Given the description of an element on the screen output the (x, y) to click on. 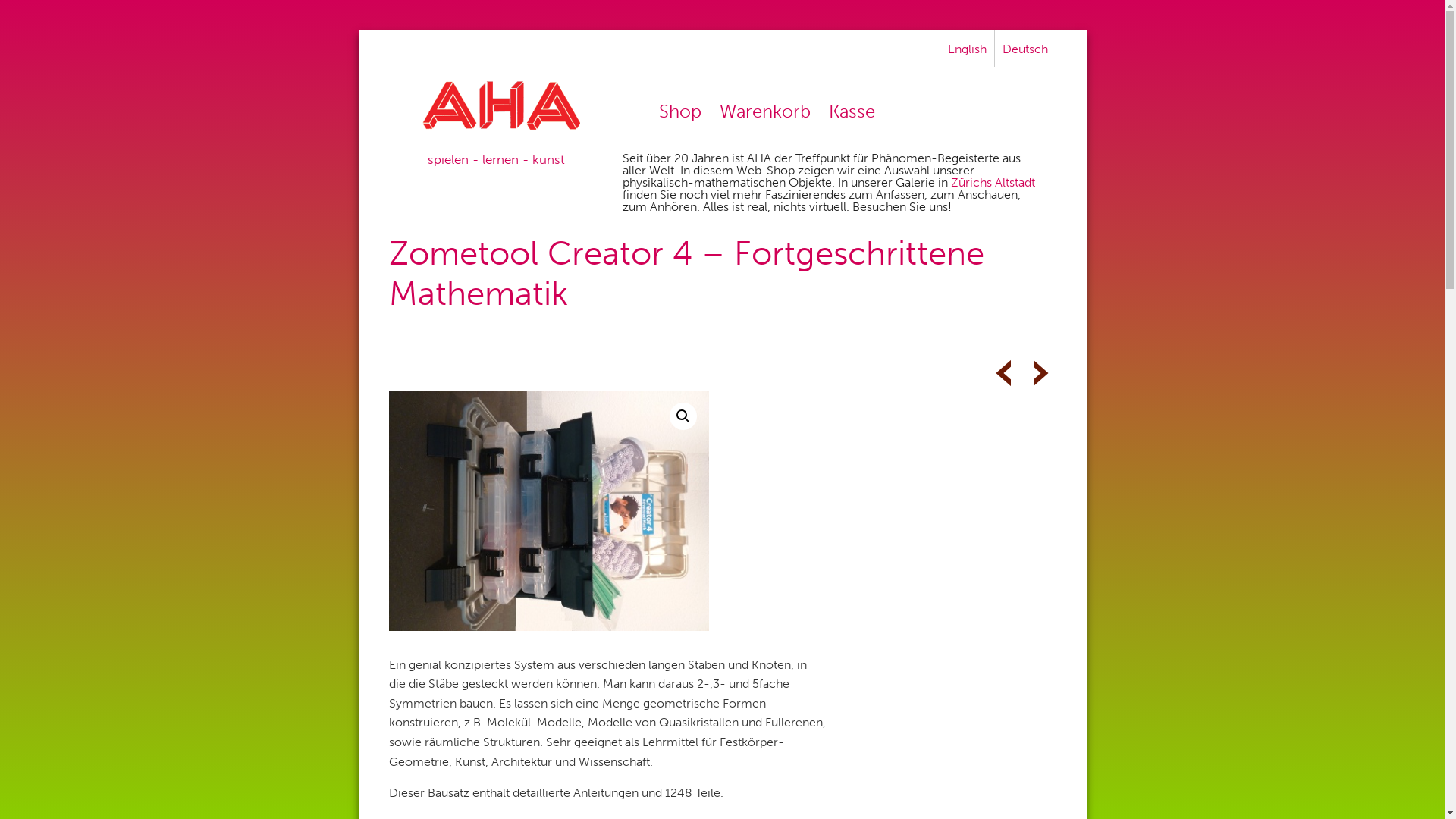
Zometool Creator 3 Element type: text (1002, 372)
Kasse Element type: text (851, 111)
Warenkorb Element type: text (764, 111)
Deutsch Element type: text (1024, 48)
Shop Element type: text (679, 111)
English Element type: text (967, 48)
Creator 4 Element type: hover (548, 510)
